Given the description of an element on the screen output the (x, y) to click on. 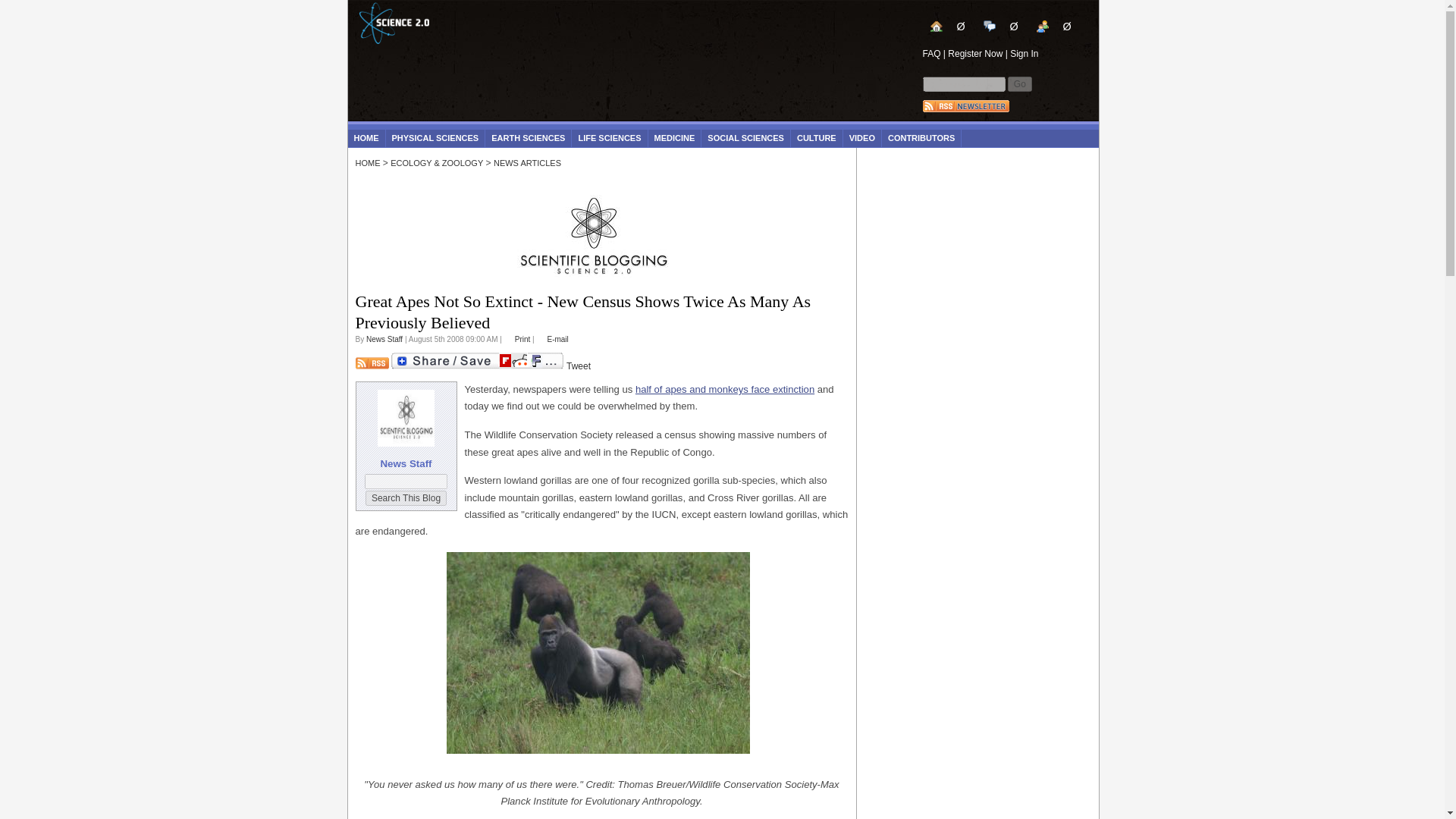
Search This Blog (405, 498)
Sign in and see comments by people on your friends list... (1054, 26)
Sign In (1024, 53)
Go (1019, 83)
Go (1019, 83)
LIFE SCIENCES (609, 138)
FAQ (930, 53)
PHYSICAL SCIENCES (434, 138)
View user profile. (384, 338)
